Given the description of an element on the screen output the (x, y) to click on. 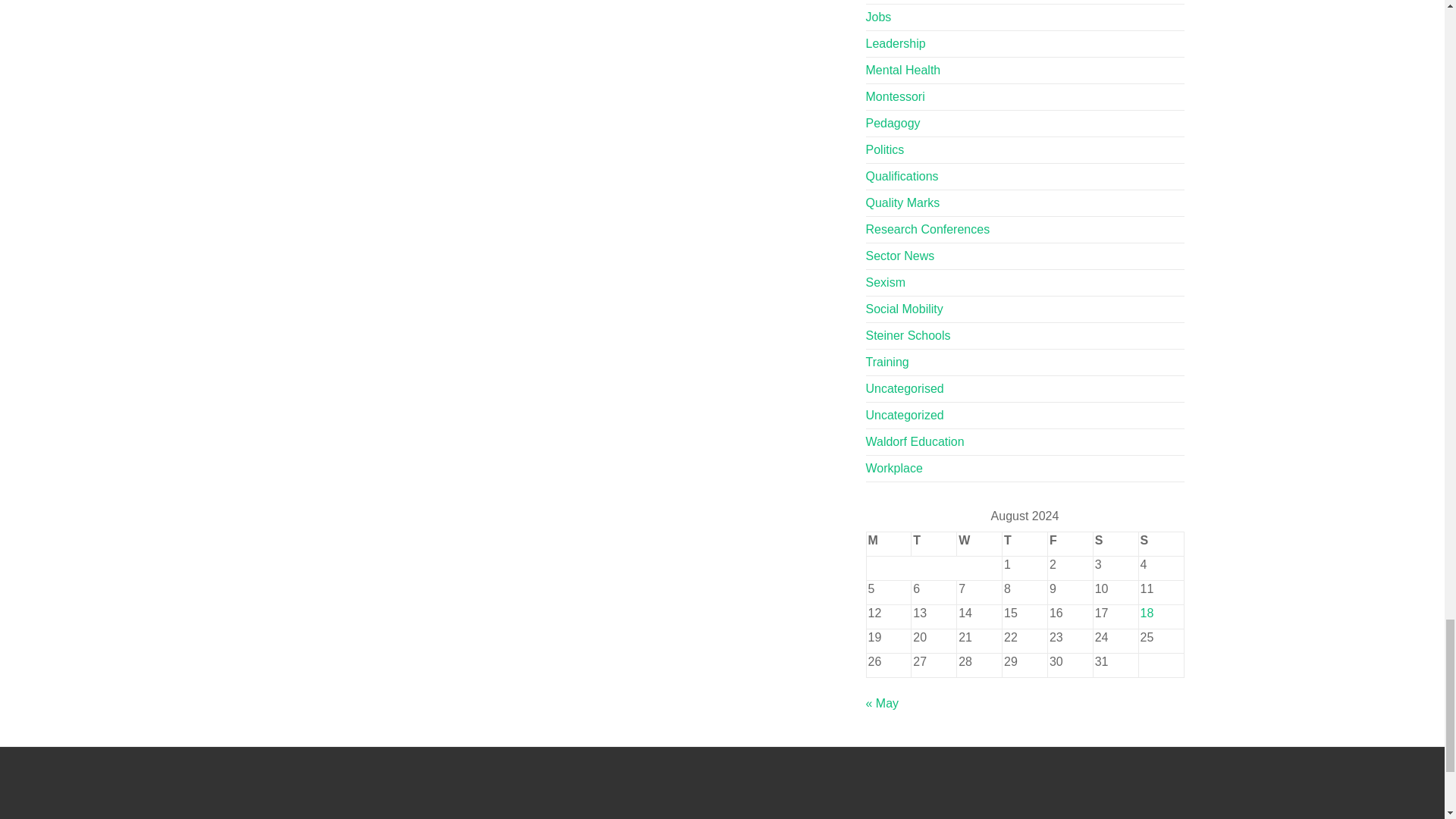
Friday (1069, 544)
Thursday (1025, 544)
Sunday (1160, 544)
Tuesday (933, 544)
Saturday (1115, 544)
Wednesday (979, 544)
Monday (888, 544)
